Given the description of an element on the screen output the (x, y) to click on. 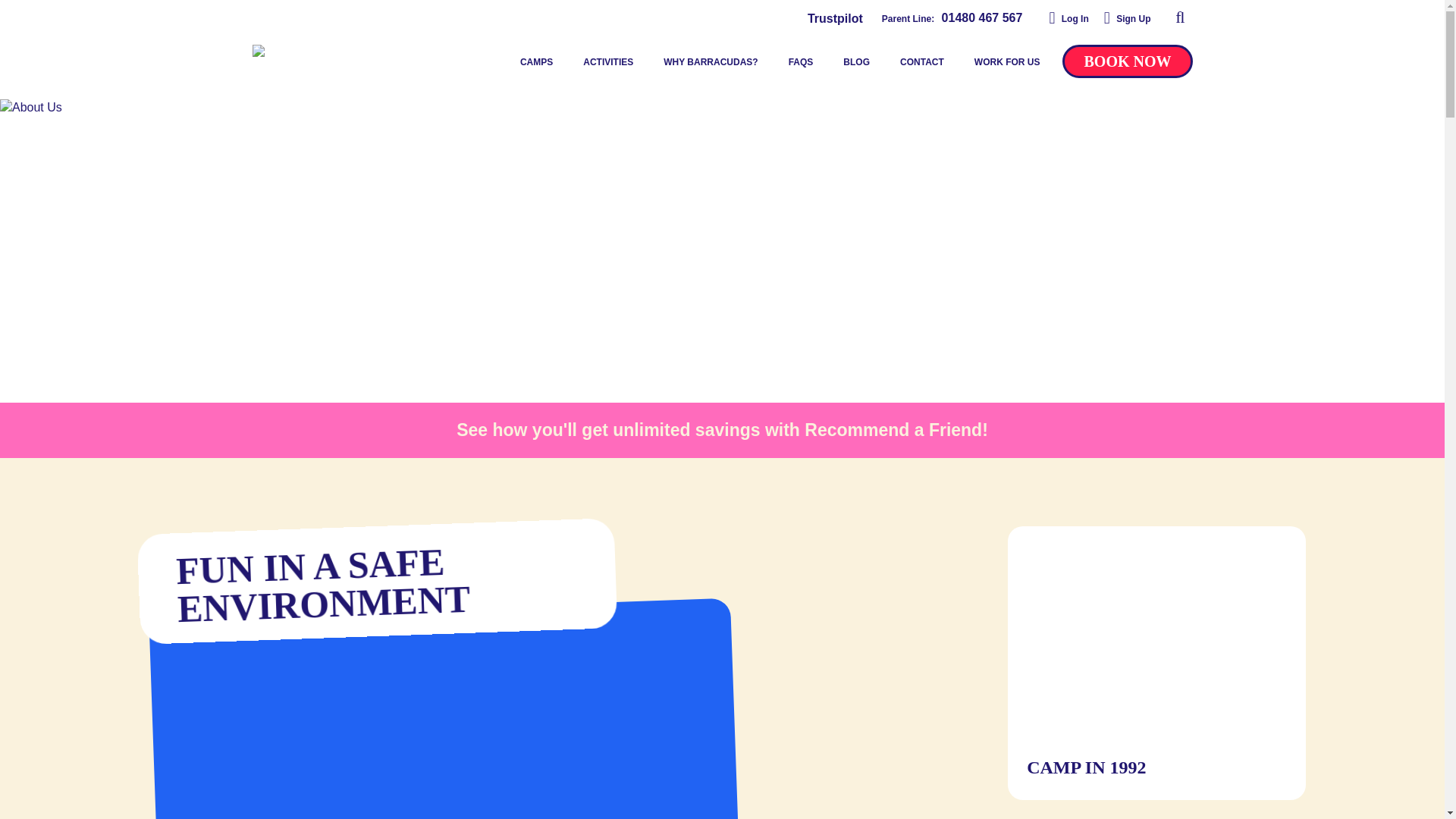
Search (1179, 16)
